Given the description of an element on the screen output the (x, y) to click on. 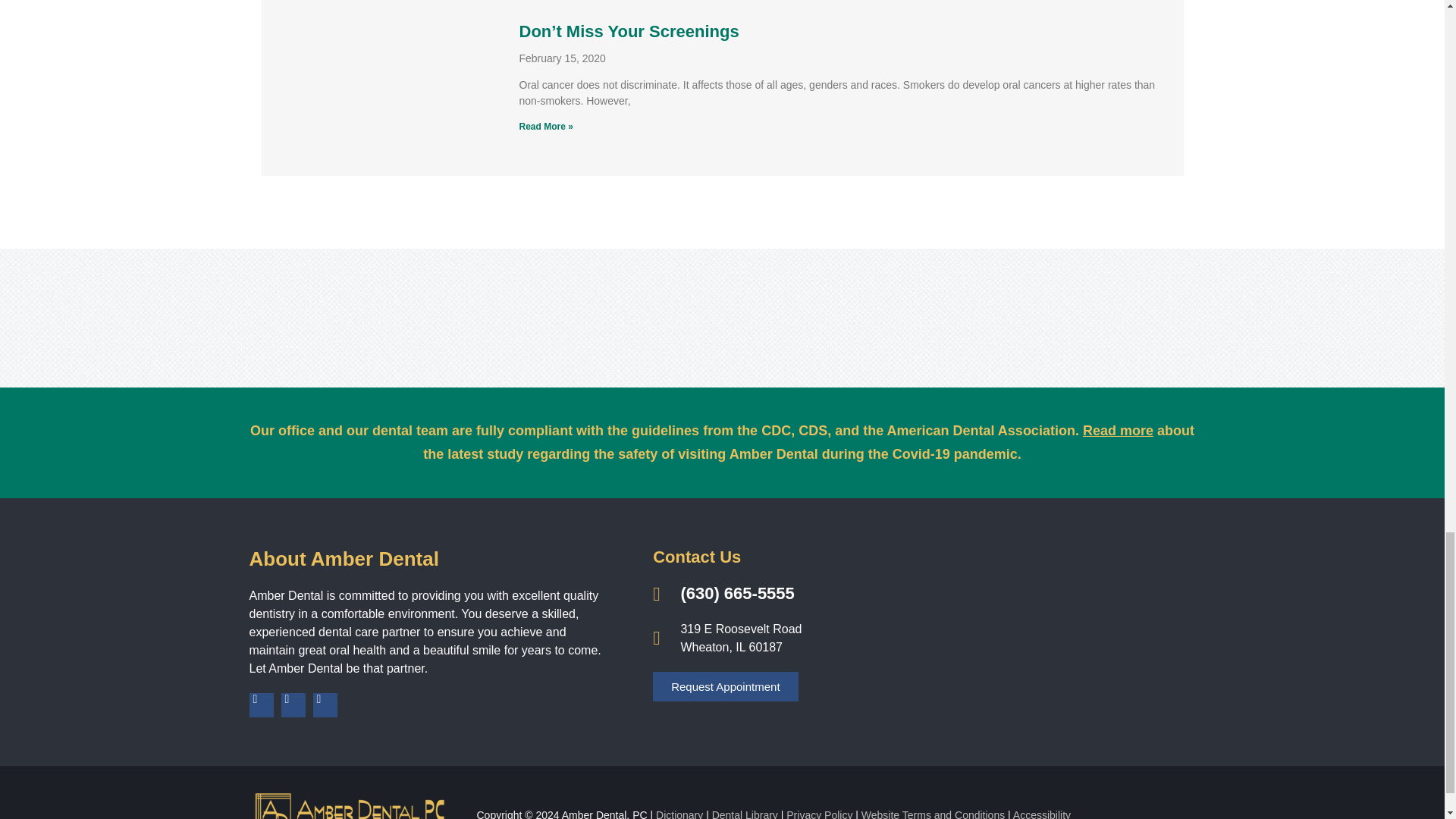
Amber Dental of Wheaton (1042, 630)
